Given the description of an element on the screen output the (x, y) to click on. 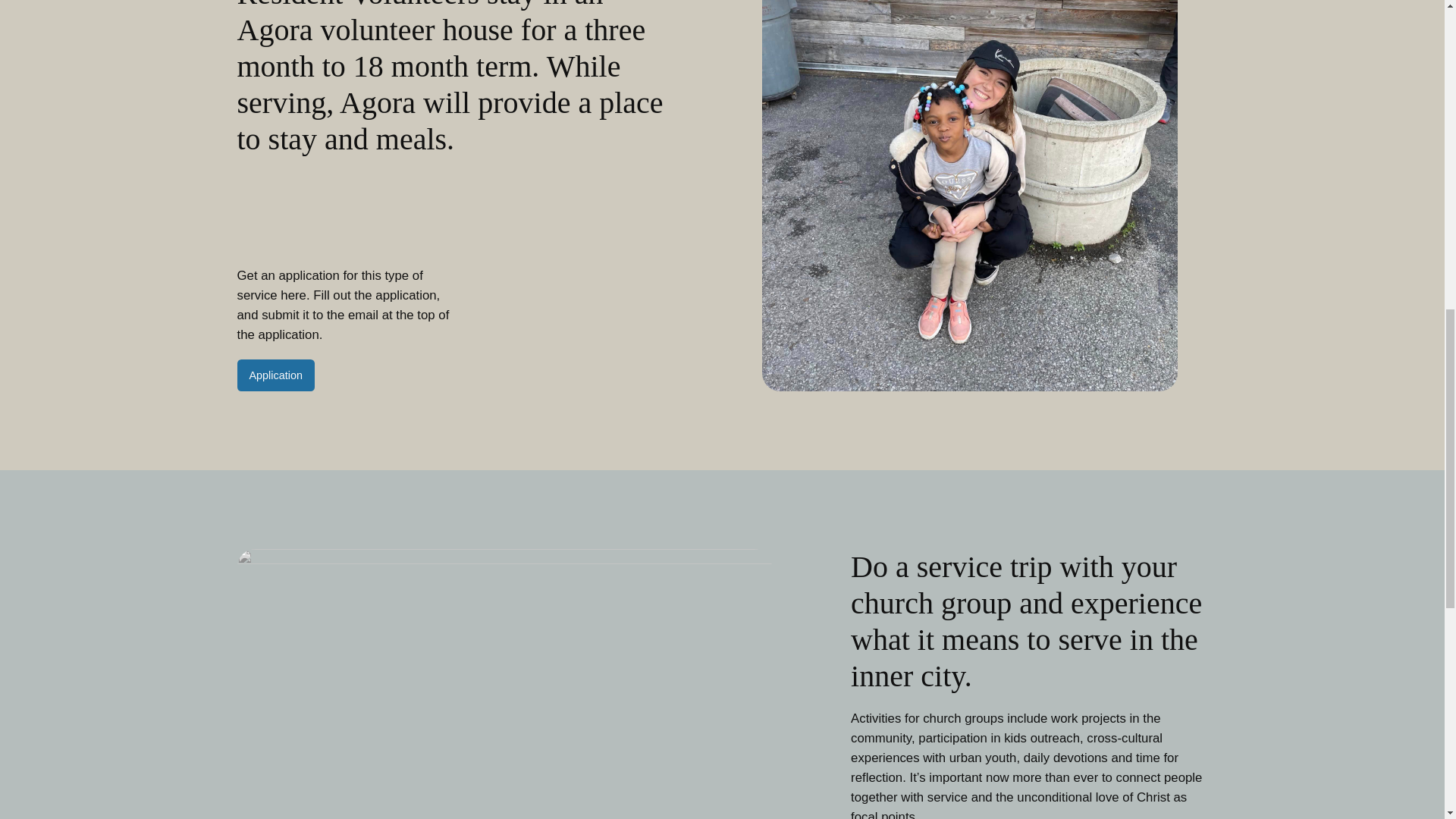
Application (274, 375)
